Given the description of an element on the screen output the (x, y) to click on. 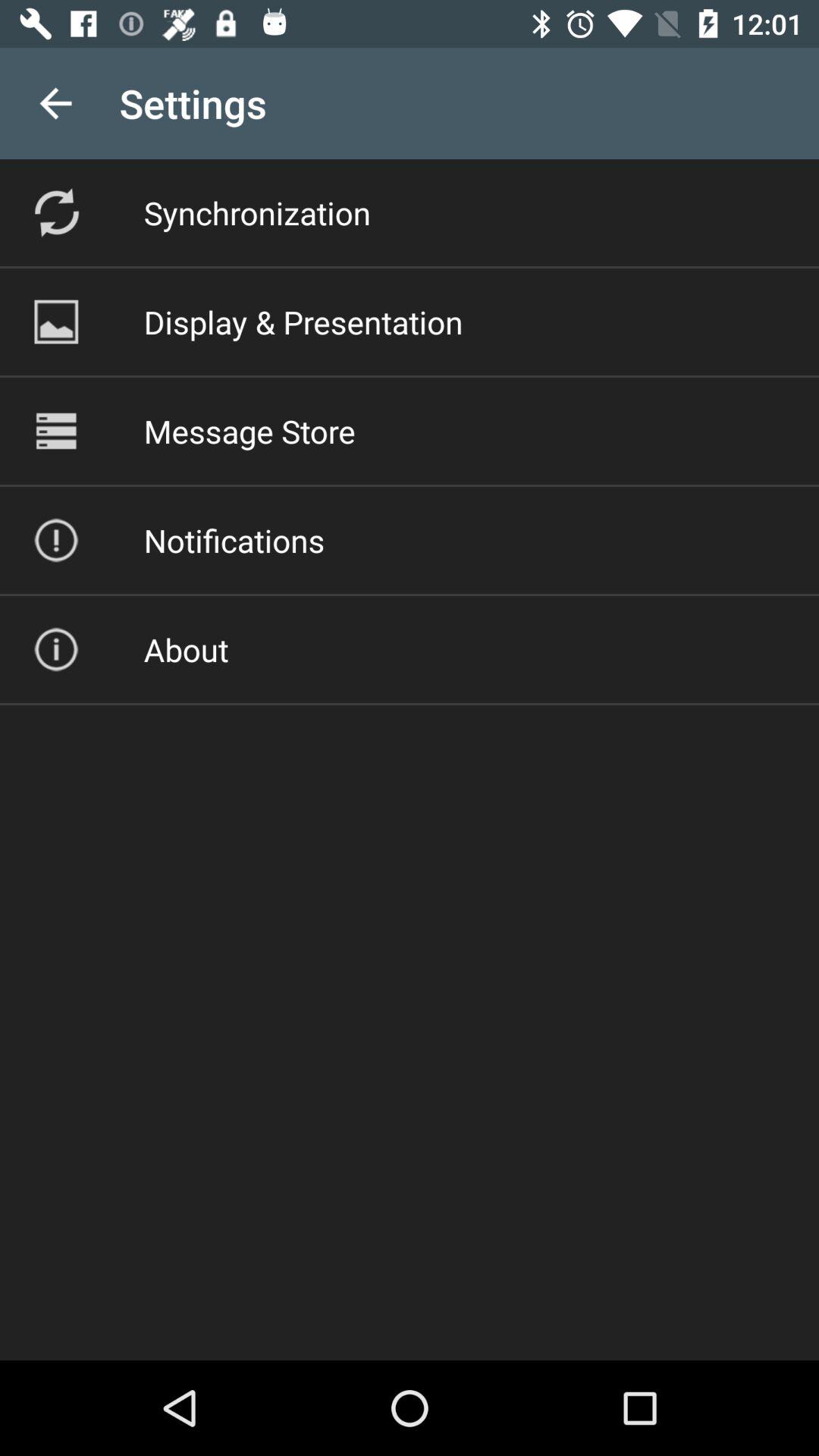
swipe until the synchronization icon (256, 212)
